Given the description of an element on the screen output the (x, y) to click on. 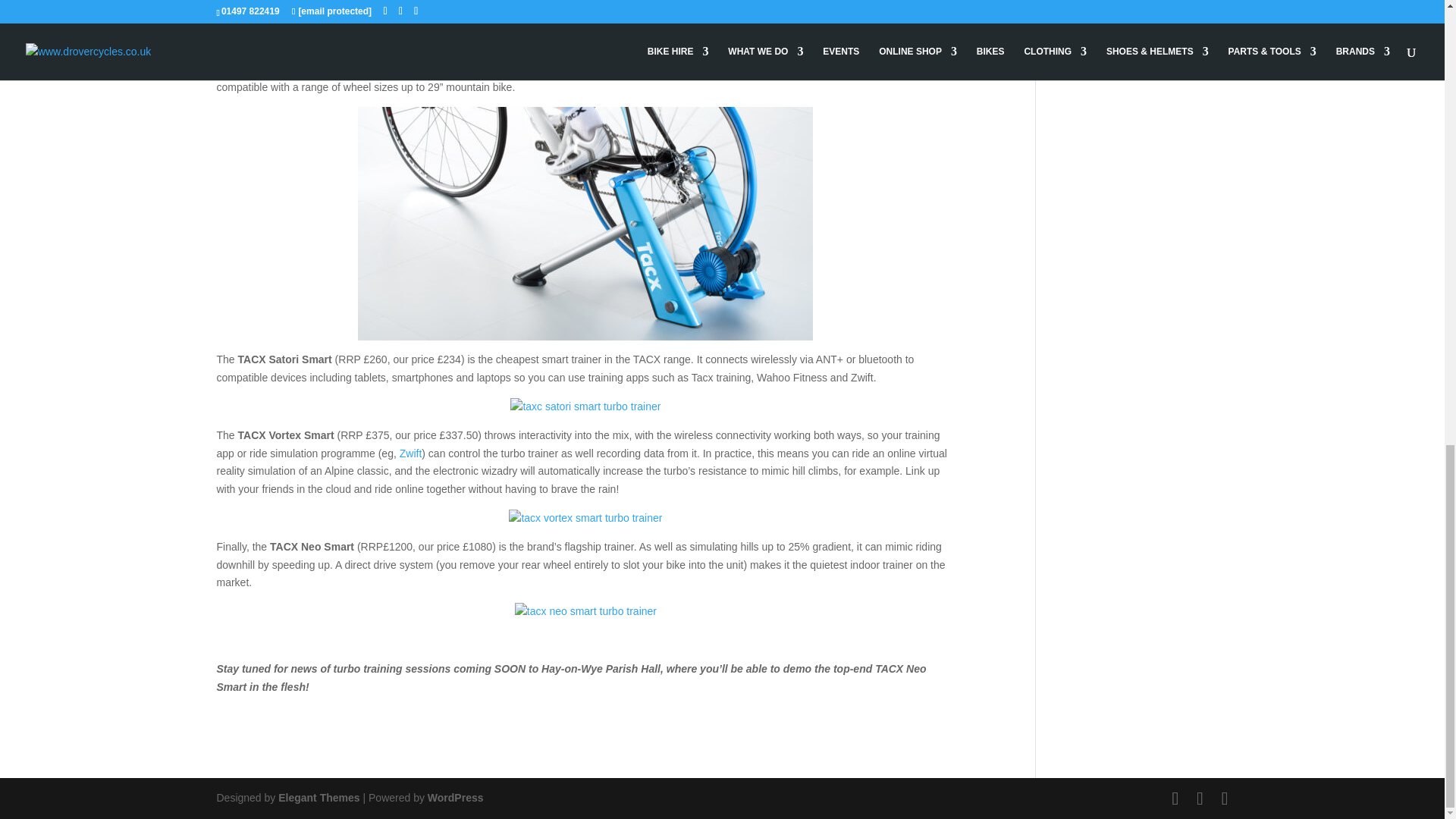
Premium WordPress Themes (318, 797)
